Given the description of an element on the screen output the (x, y) to click on. 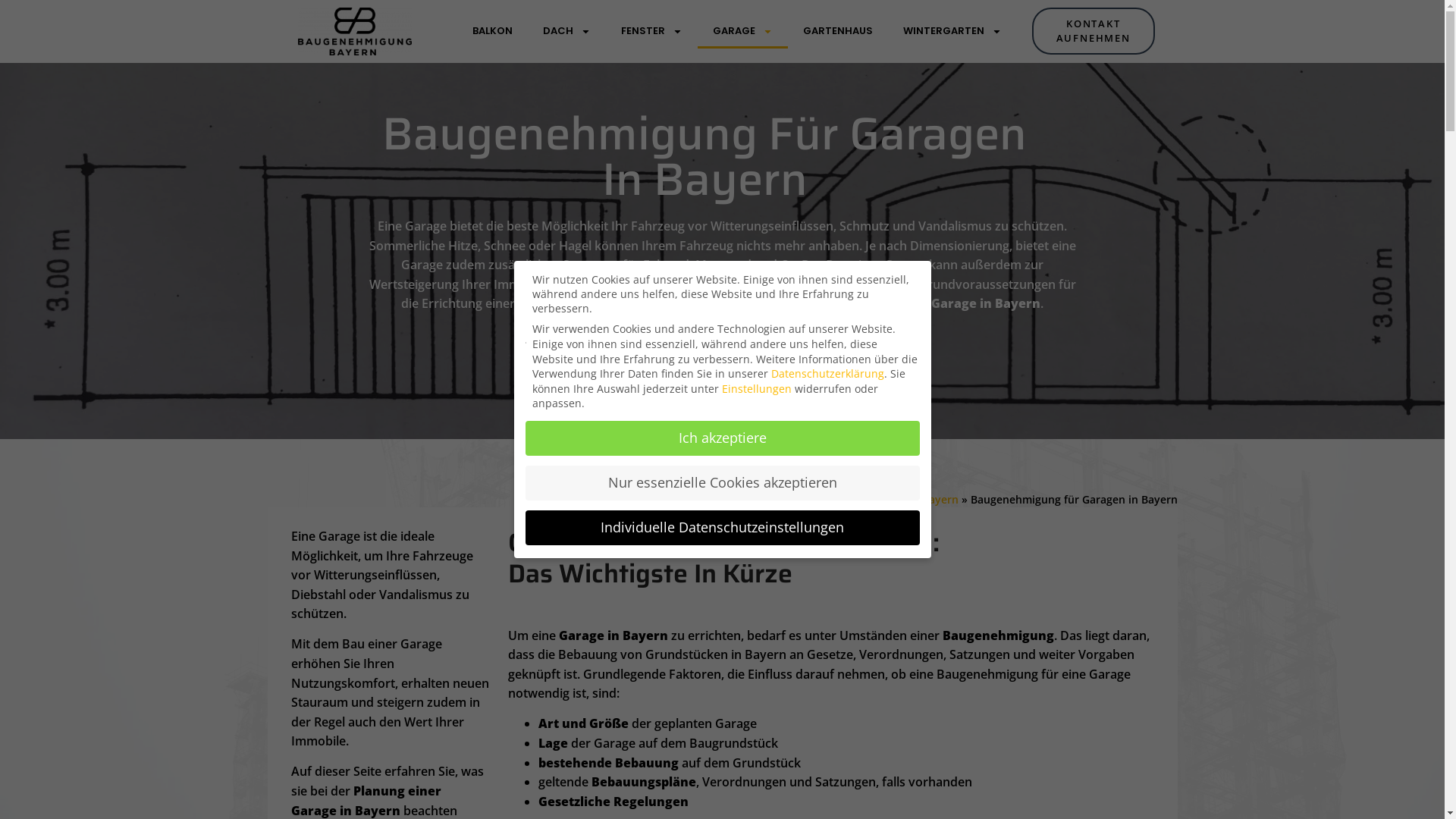
FENSTER Element type: text (651, 30)
DACH Element type: text (566, 30)
KONTAKT AUFNEHMEN Element type: text (1093, 30)
WINTERGARTEN Element type: text (952, 30)
GARTENHAUS Element type: text (837, 30)
GARAGE Element type: text (742, 30)
mehr erfahren Element type: text (722, 368)
Nur essenzielle Cookies akzeptieren Element type: text (721, 482)
Baugenehmigung Bayern Element type: text (892, 499)
Ich akzeptiere Element type: text (721, 437)
Einstellungen Element type: text (756, 388)
Individuelle Datenschutzeinstellungen Element type: text (721, 527)
BALKON Element type: text (492, 30)
Baugenehmigung Bayern Element type: hover (354, 31)
